Given the description of an element on the screen output the (x, y) to click on. 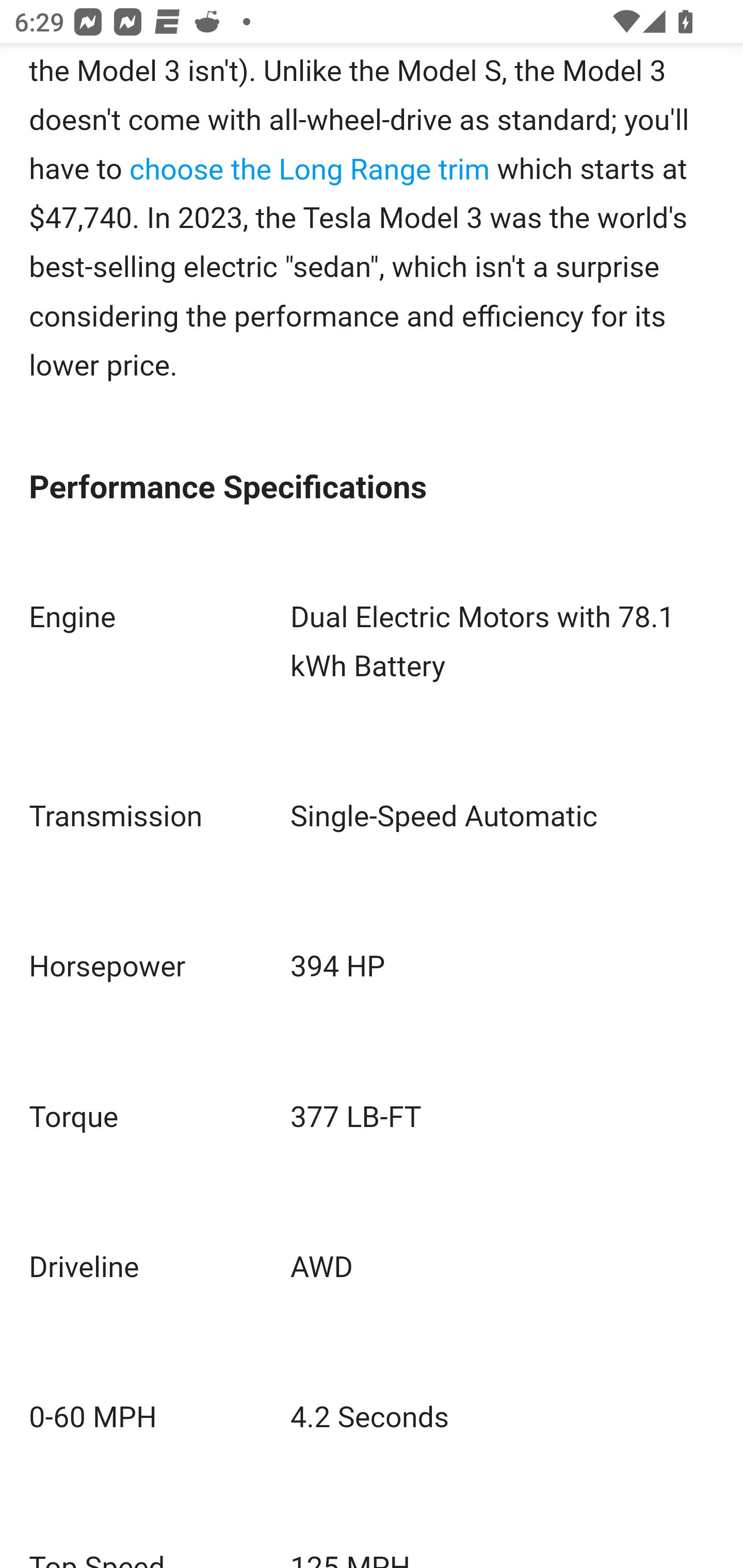
choose the Long Range trim (309, 168)
